Given the description of an element on the screen output the (x, y) to click on. 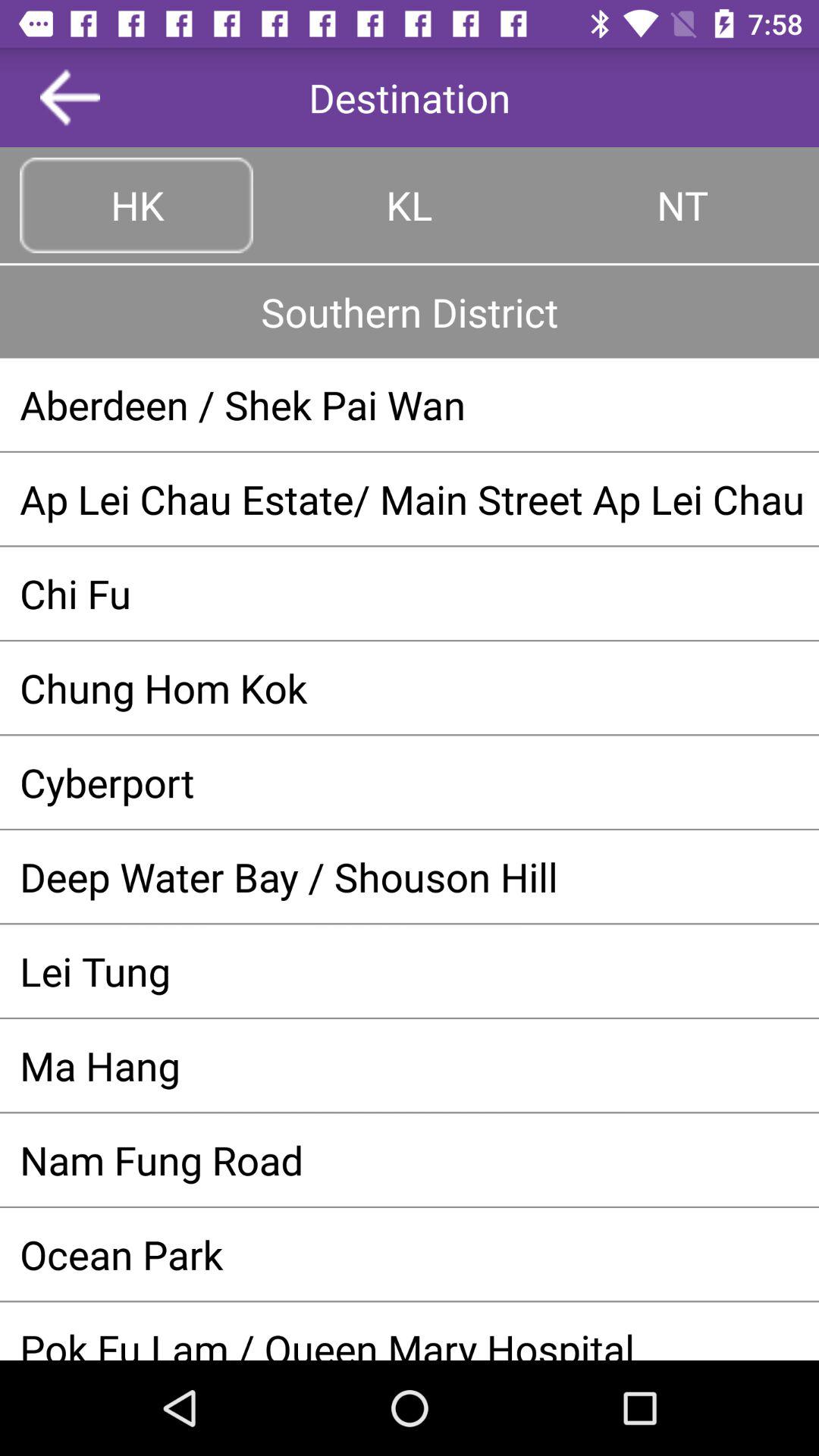
tap the icon above ma hang app (409, 970)
